Given the description of an element on the screen output the (x, y) to click on. 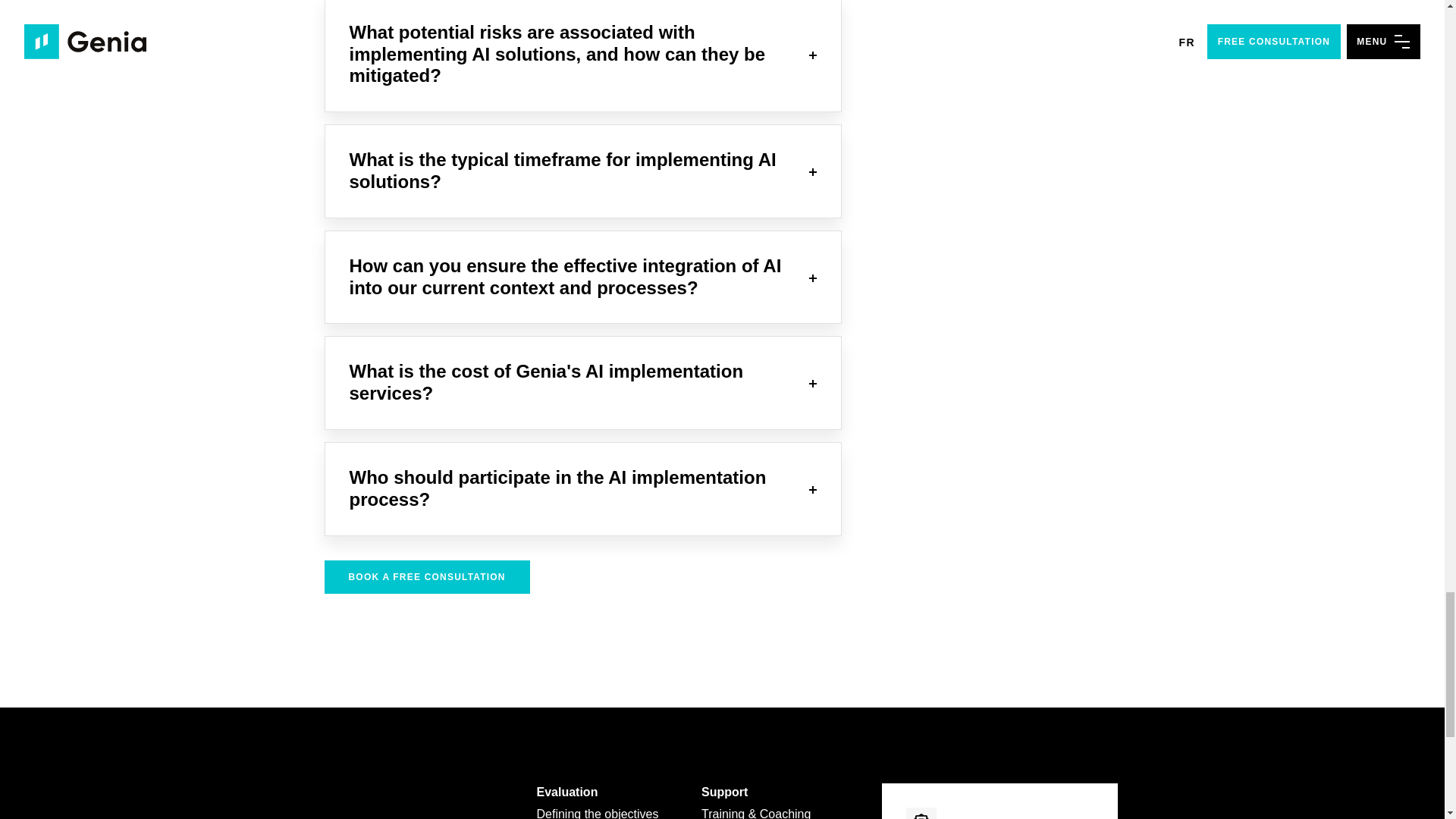
Defining the objectives (598, 813)
BOOK A FREE CONSULTATION (426, 576)
What is the cost of Genia's AI implementation services? (582, 382)
Evaluation (567, 791)
What is the typical timeframe for implementing AI solutions? (582, 171)
Who should participate in the AI implementation process? (582, 489)
Support (724, 791)
